Given the description of an element on the screen output the (x, y) to click on. 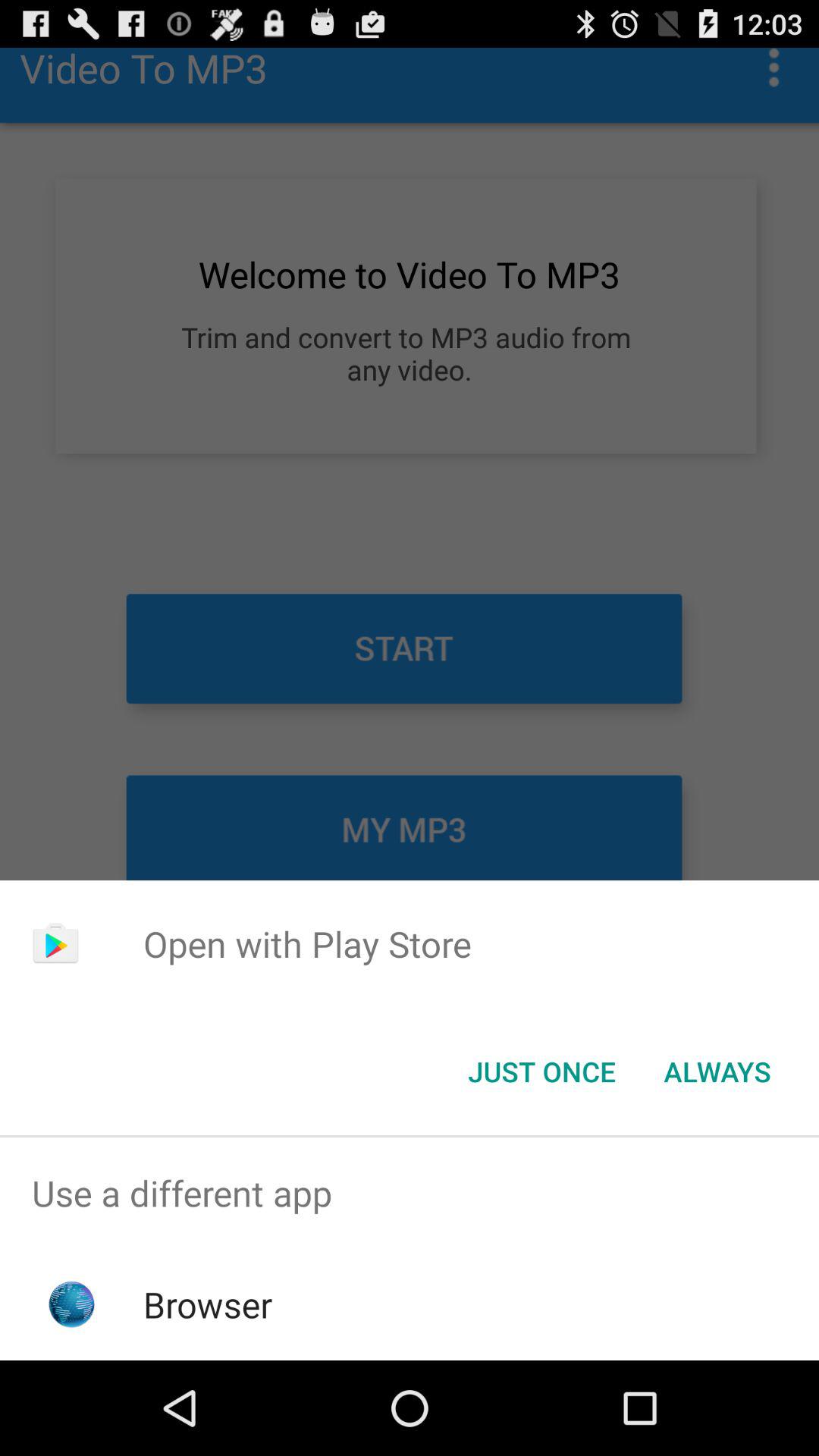
turn on item below use a different item (207, 1304)
